Given the description of an element on the screen output the (x, y) to click on. 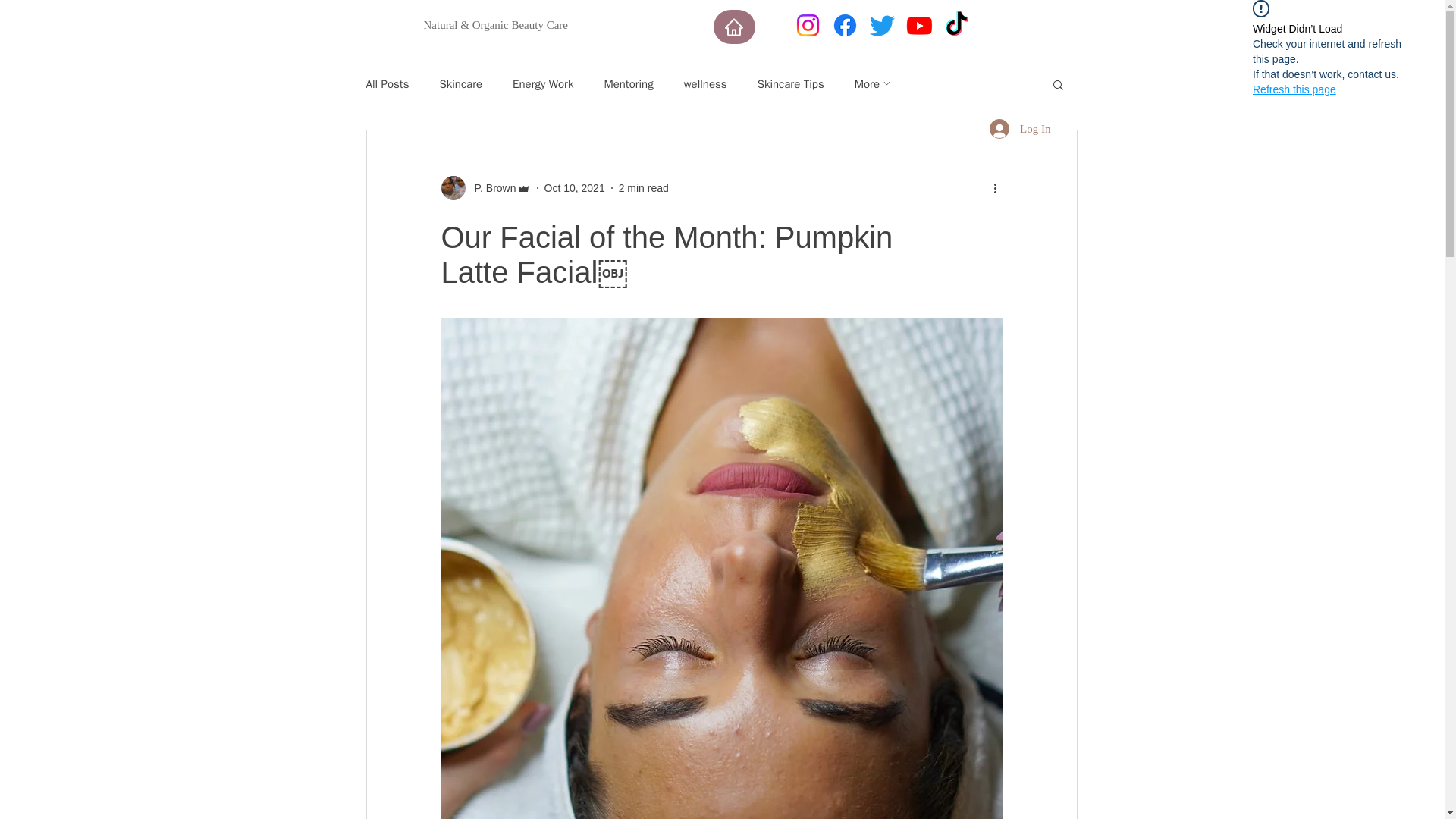
P. Brown  (490, 188)
wellness (705, 83)
Skincare (460, 83)
Energy Work (542, 83)
Skincare Tips (790, 83)
All Posts (387, 83)
P. Brown (486, 187)
2 min read (643, 187)
Refresh this page (1294, 89)
Mentoring (628, 83)
Oct 10, 2021 (574, 187)
Log In (1019, 128)
